Given the description of an element on the screen output the (x, y) to click on. 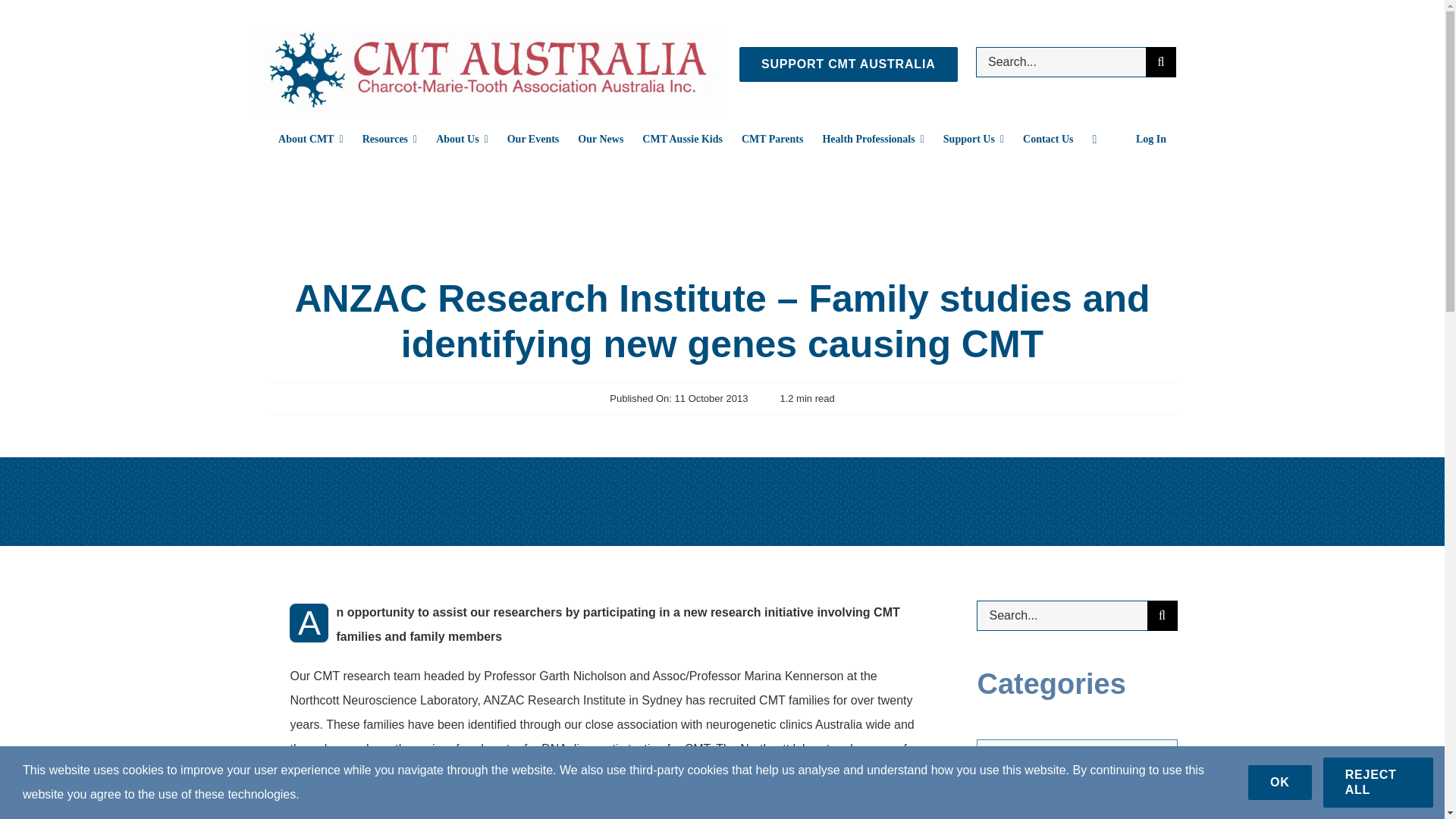
SUPPORT CMT AUSTRALIA (848, 63)
About CMT (310, 138)
Resources (389, 138)
About Us (461, 138)
